Given the description of an element on the screen output the (x, y) to click on. 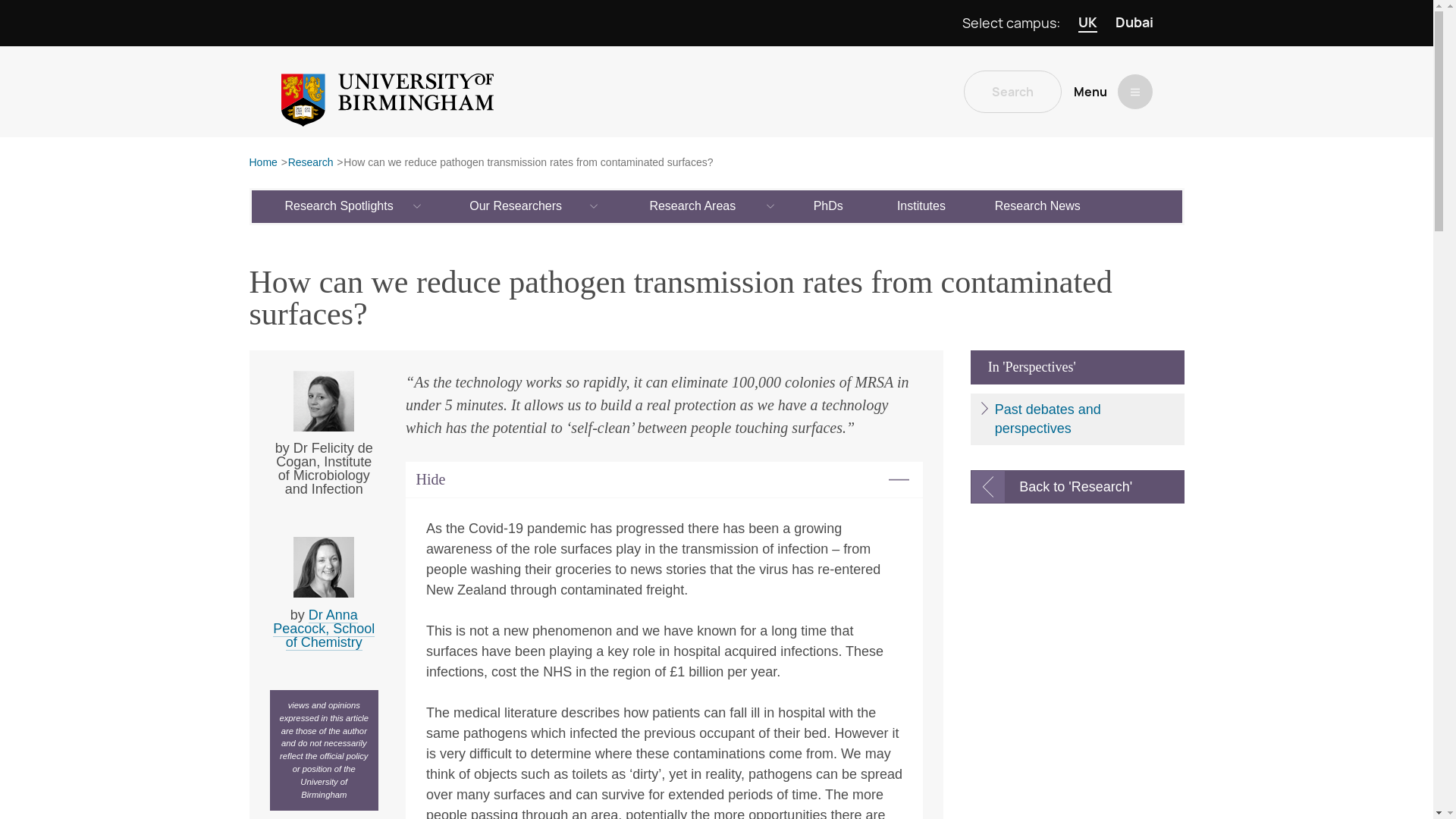
Dubai (1134, 23)
Search (1012, 91)
UK (1087, 23)
Research (310, 163)
Home (262, 163)
Research Areas (693, 205)
Our Researchers (516, 205)
Research Spotlights (339, 205)
